Given the description of an element on the screen output the (x, y) to click on. 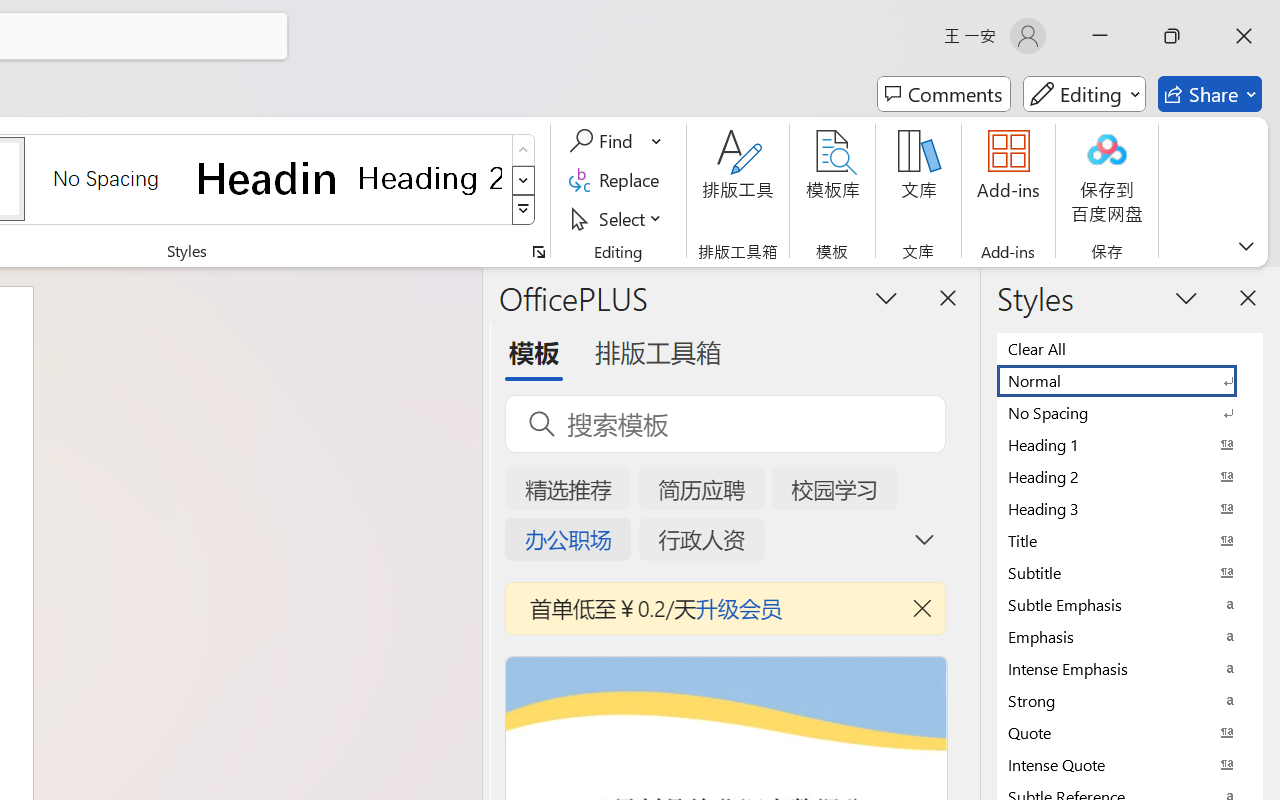
Find (604, 141)
Styles (523, 209)
Row up (523, 150)
Normal (1130, 380)
Emphasis (1130, 636)
More Options (657, 141)
Strong (1130, 700)
Intense Quote (1130, 764)
Replace... (617, 179)
Select (618, 218)
Quote (1130, 732)
